Given the description of an element on the screen output the (x, y) to click on. 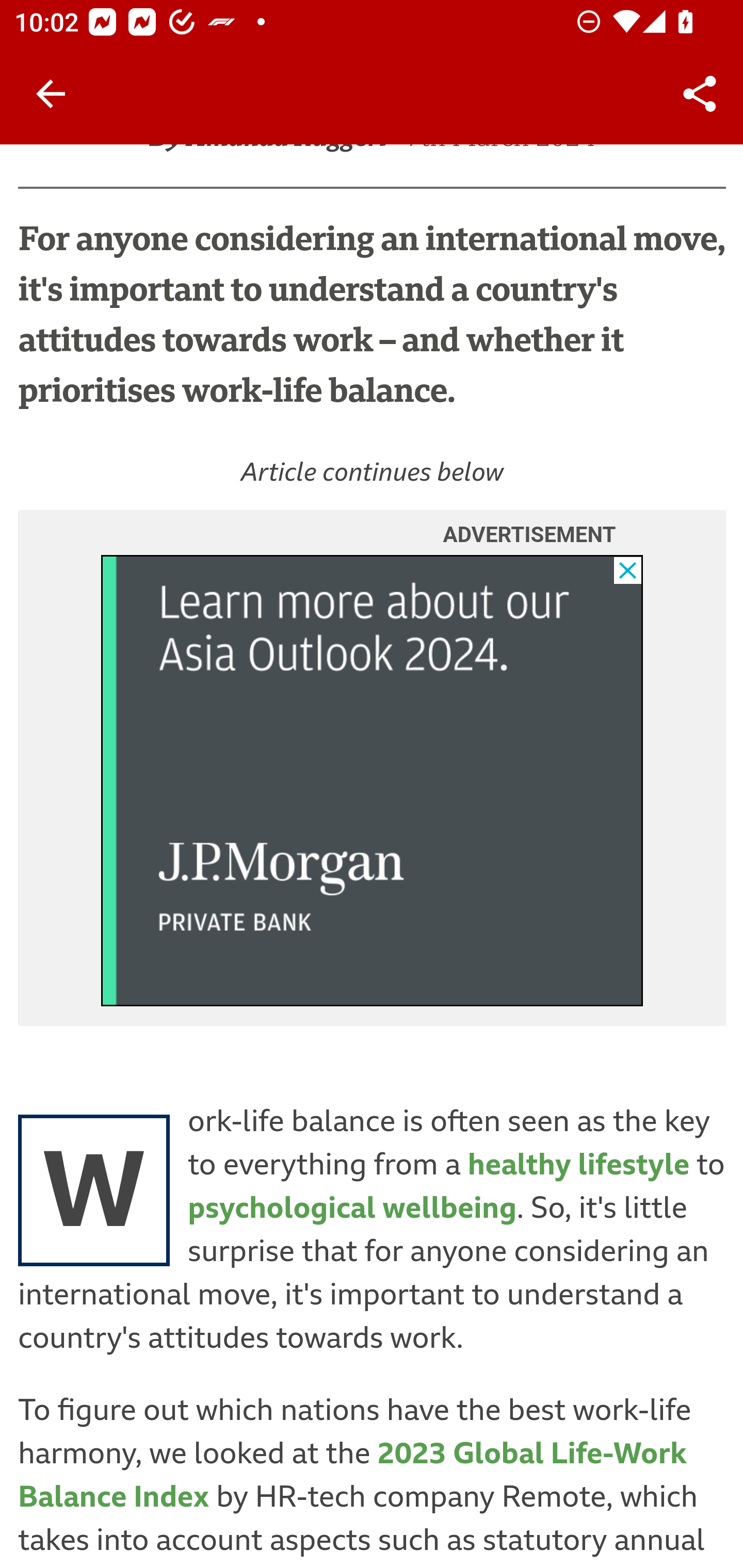
Back (50, 93)
Share (699, 93)
healthy lifestyle (578, 1164)
psychological wellbeing (352, 1208)
2023 Global Life-Work Balance Index (352, 1475)
